Given the description of an element on the screen output the (x, y) to click on. 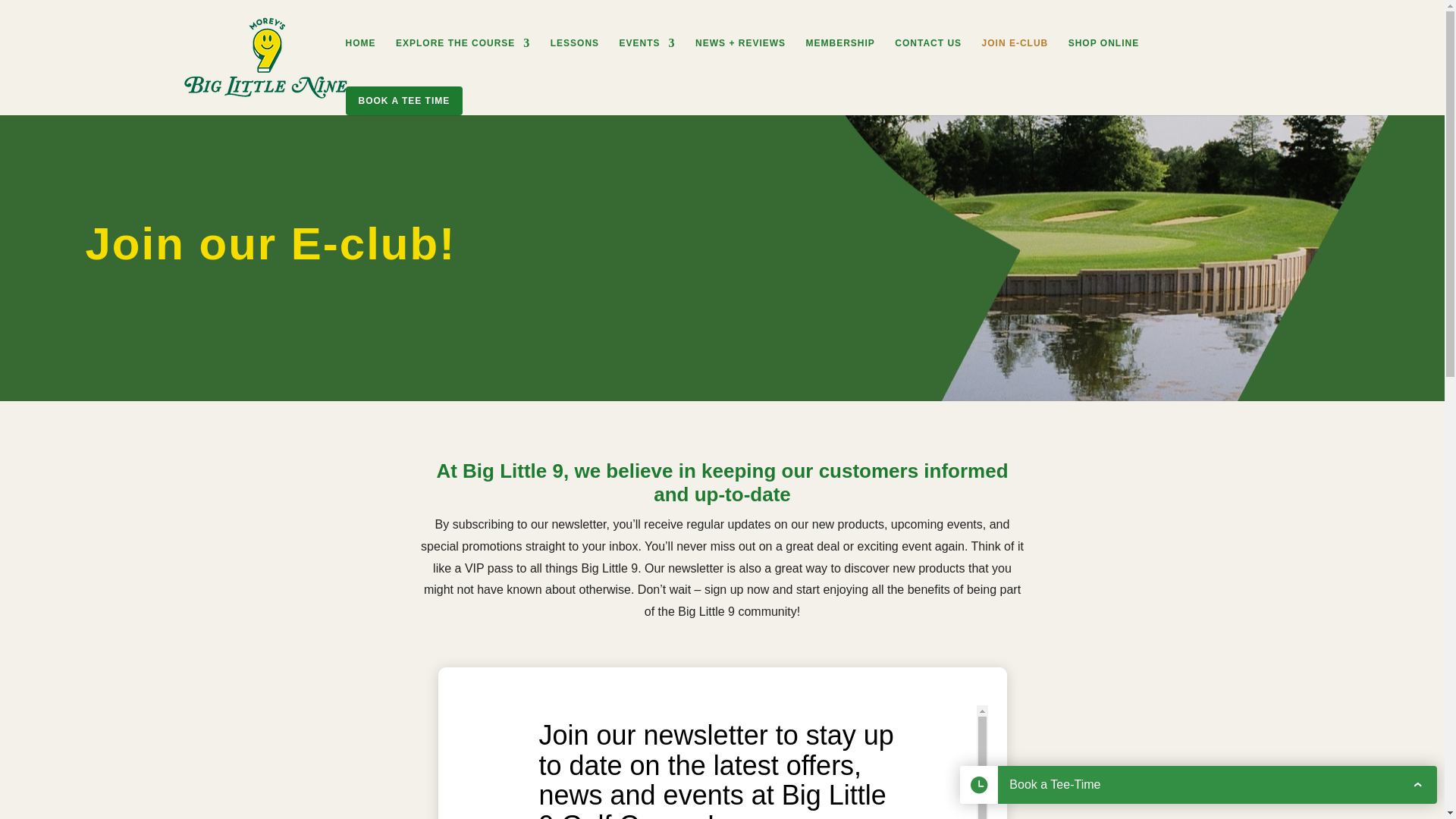
BOOK A TEE TIME (404, 100)
EXPLORE THE COURSE (462, 61)
EVENTS (647, 61)
Lightspeed Golf (1382, 788)
MEMBERSHIP (840, 61)
LESSONS (574, 61)
Book a Tee-Time (1198, 784)
CONTACT US (927, 61)
SHOP ONLINE (1103, 61)
JOIN E-CLUB (1014, 61)
